Given the description of an element on the screen output the (x, y) to click on. 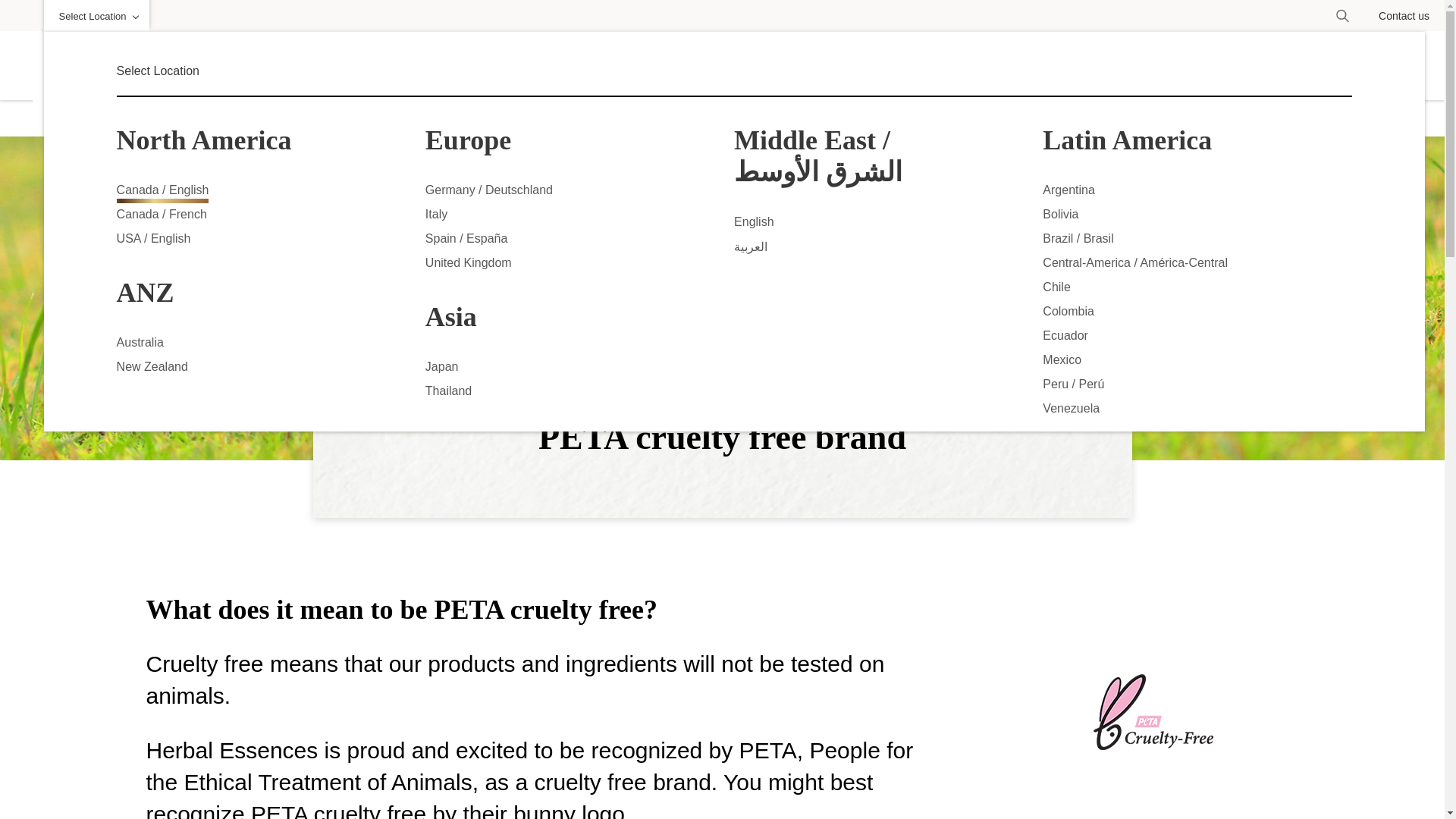
Mexico (1061, 361)
Thailand (448, 393)
Bolivia (1060, 216)
English (753, 223)
United Kingdom (468, 264)
Home (85, 98)
Ecuador (1064, 337)
Contact us (1403, 15)
Australia (139, 343)
Japan (441, 368)
Argentina (1068, 191)
SHOP NOW (987, 66)
Select Location (96, 15)
Chile (1056, 289)
Colombia (1068, 313)
